Given the description of an element on the screen output the (x, y) to click on. 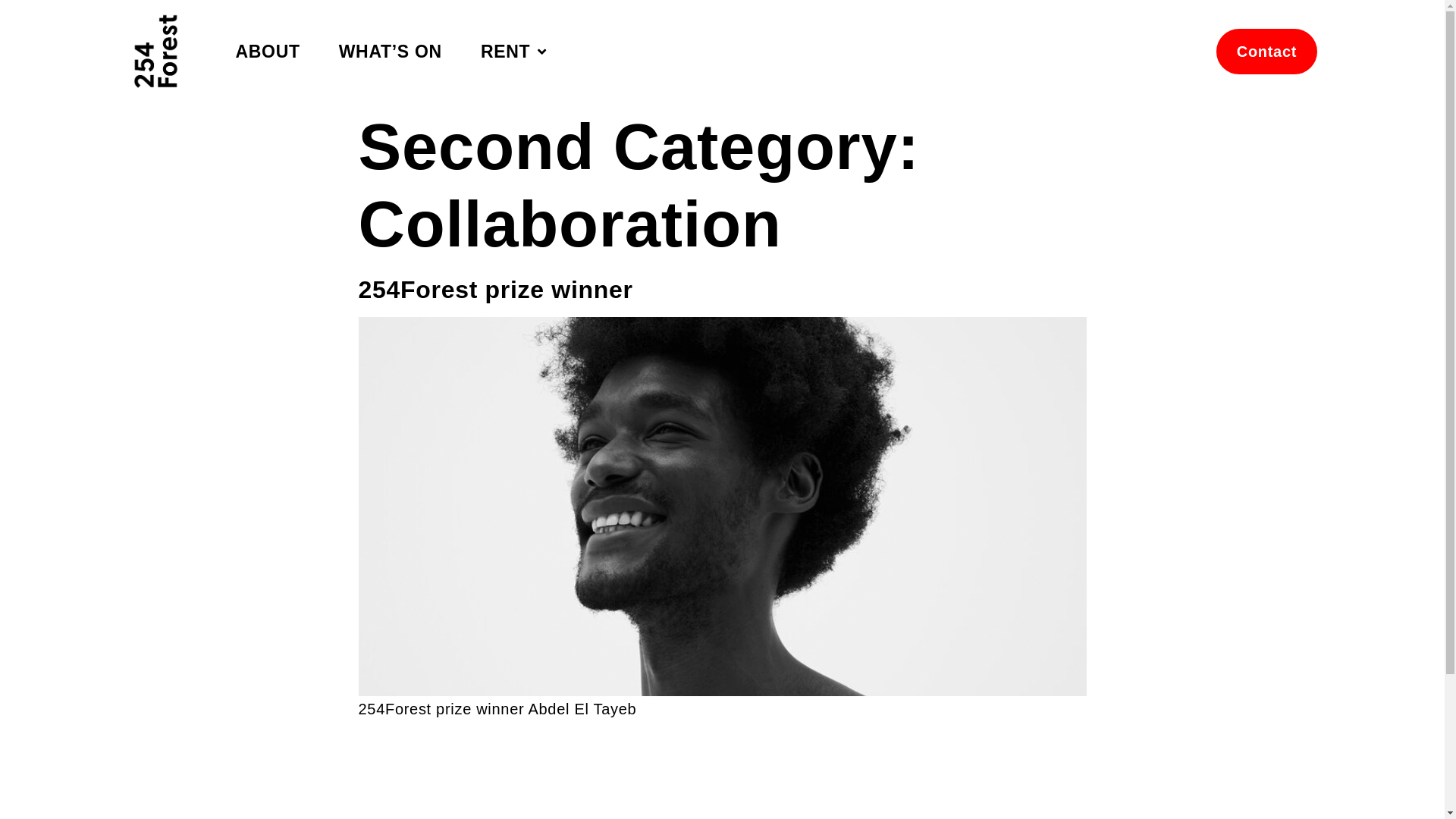
RENT Element type: text (513, 51)
254Forest prize winner Element type: text (494, 289)
ABOUT Element type: text (266, 51)
Contact Element type: text (1266, 51)
